Given the description of an element on the screen output the (x, y) to click on. 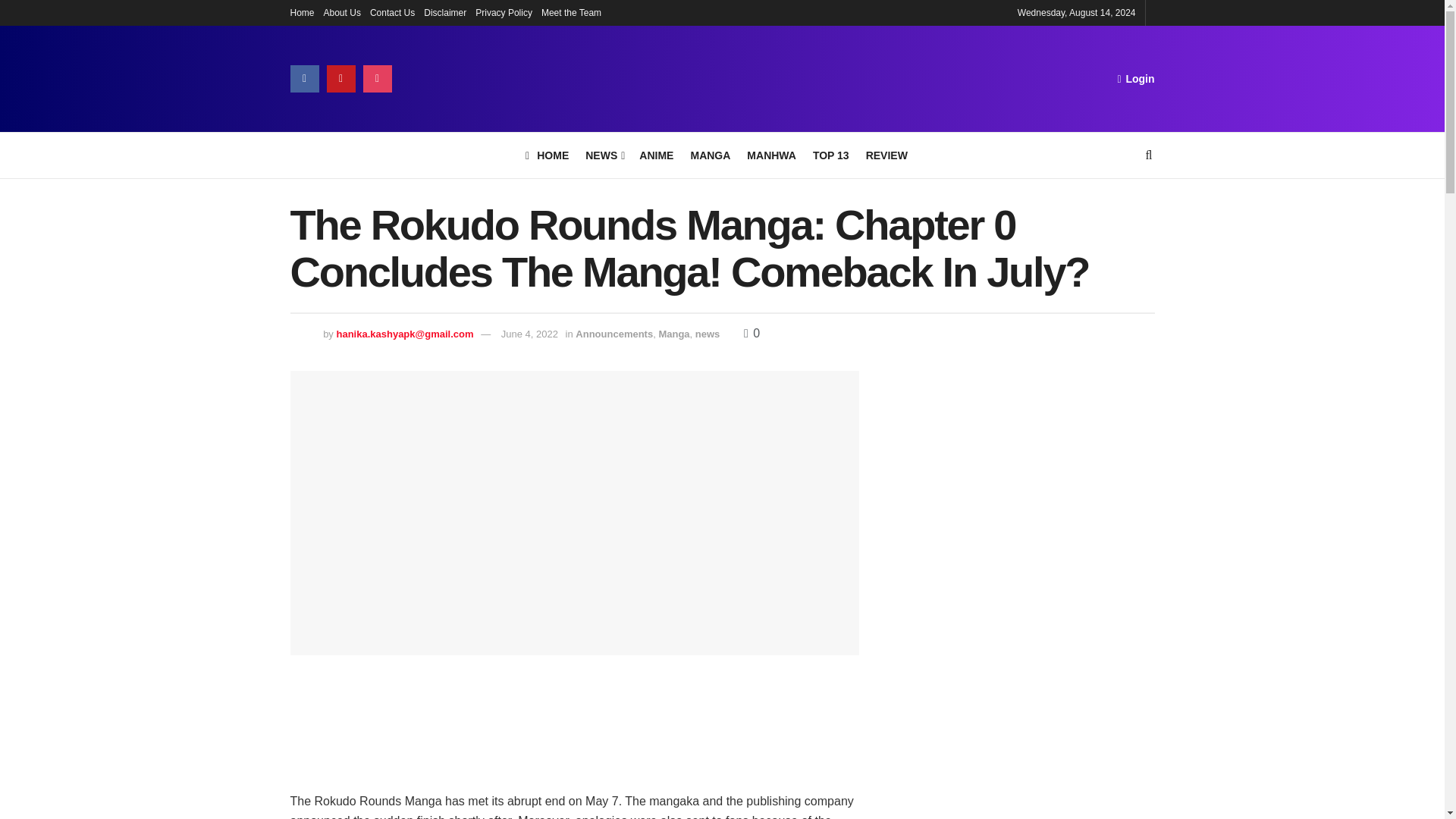
TOP 13 (830, 155)
ANIME (655, 155)
Contact Us (391, 12)
Meet the Team (571, 12)
HOME (547, 155)
NEWS (604, 155)
Home (301, 12)
Disclaimer (444, 12)
Login (1135, 78)
About Us (342, 12)
